Given the description of an element on the screen output the (x, y) to click on. 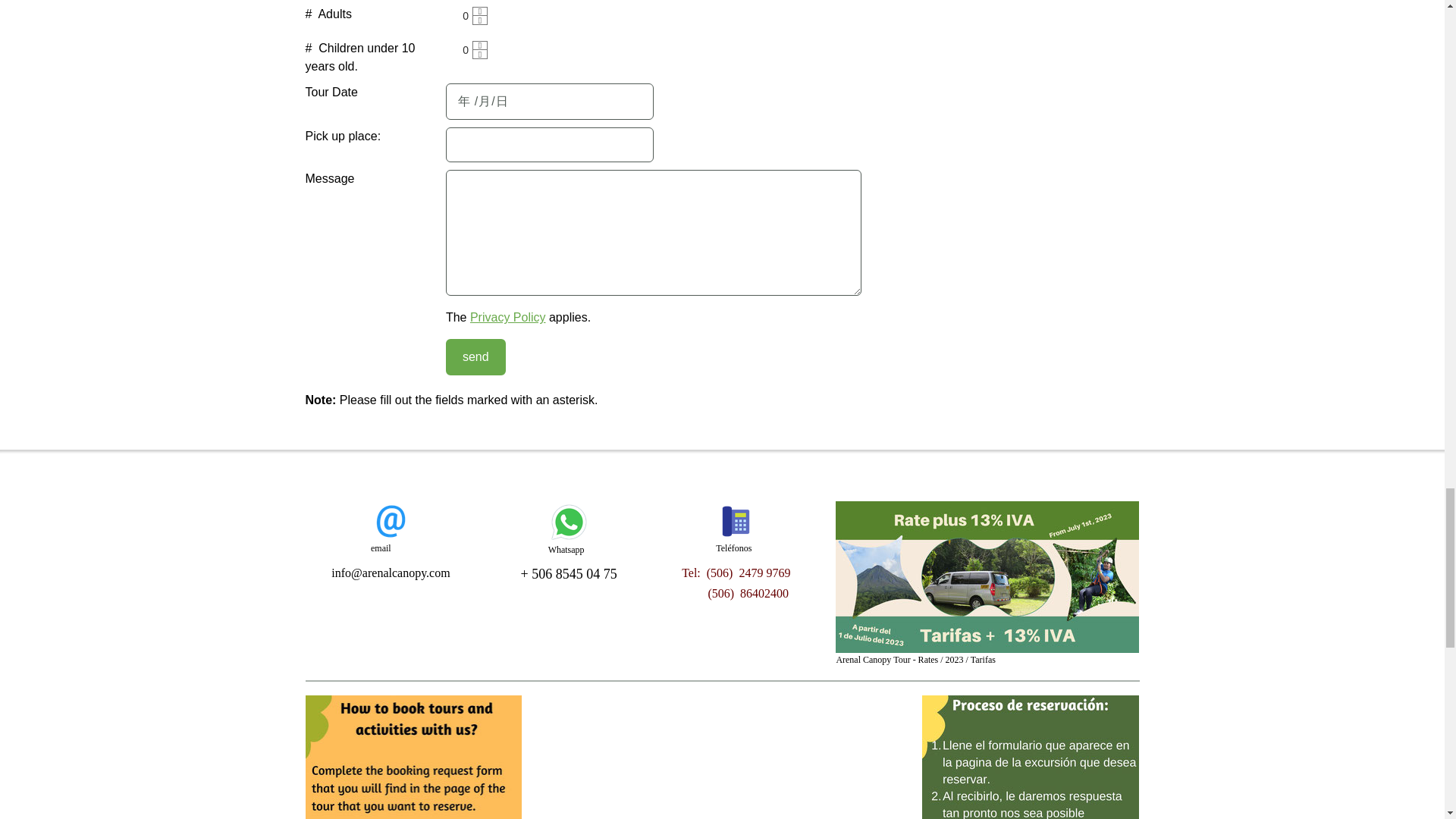
0 (460, 50)
send (475, 357)
0 (460, 16)
